Given the description of an element on the screen output the (x, y) to click on. 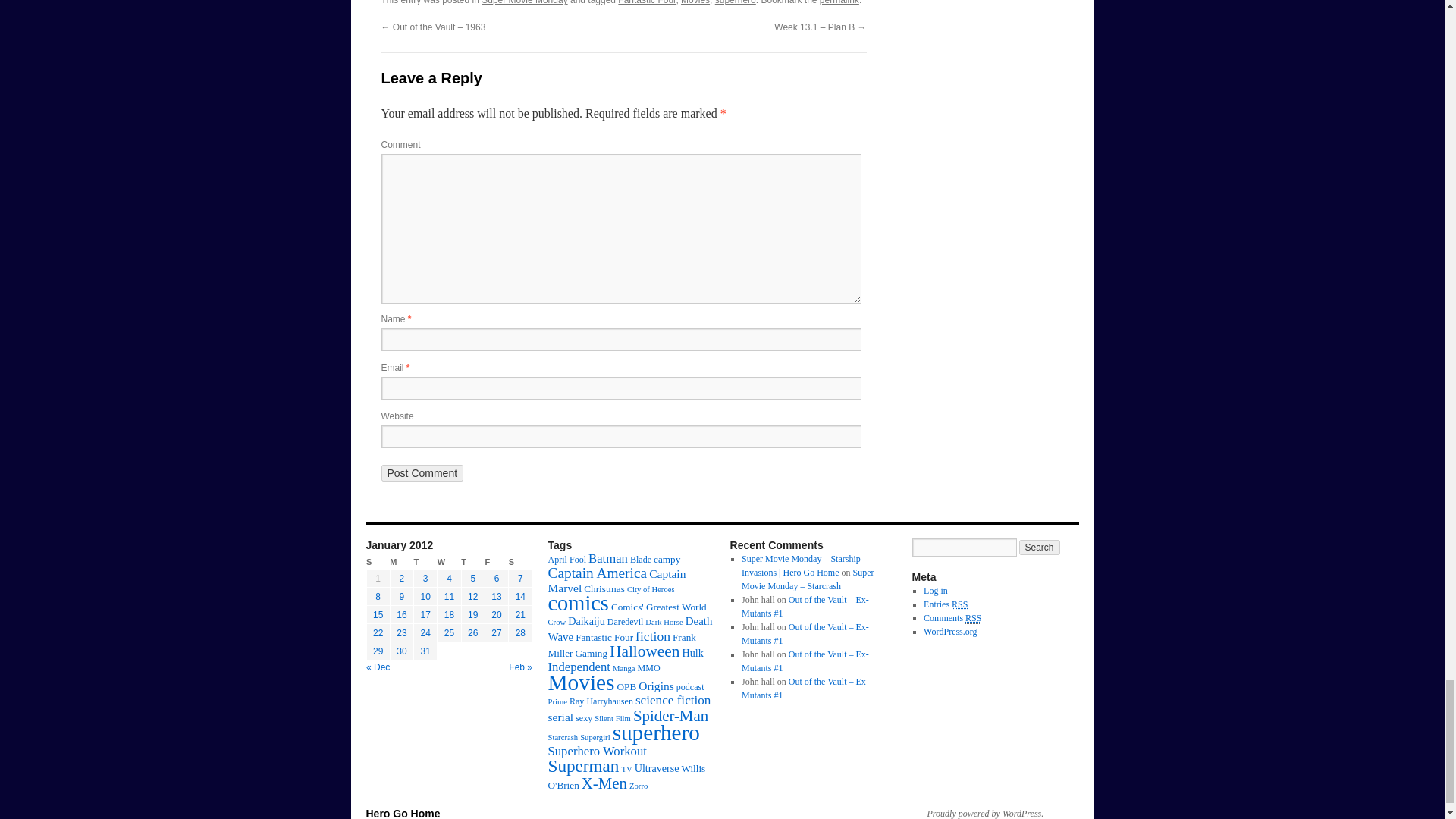
Super Movie Monday (524, 2)
Movies (695, 2)
permalink (839, 2)
Post Comment (421, 473)
superhero (734, 2)
Search (1039, 547)
Fantastic Four (646, 2)
Post Comment (421, 473)
